Given the description of an element on the screen output the (x, y) to click on. 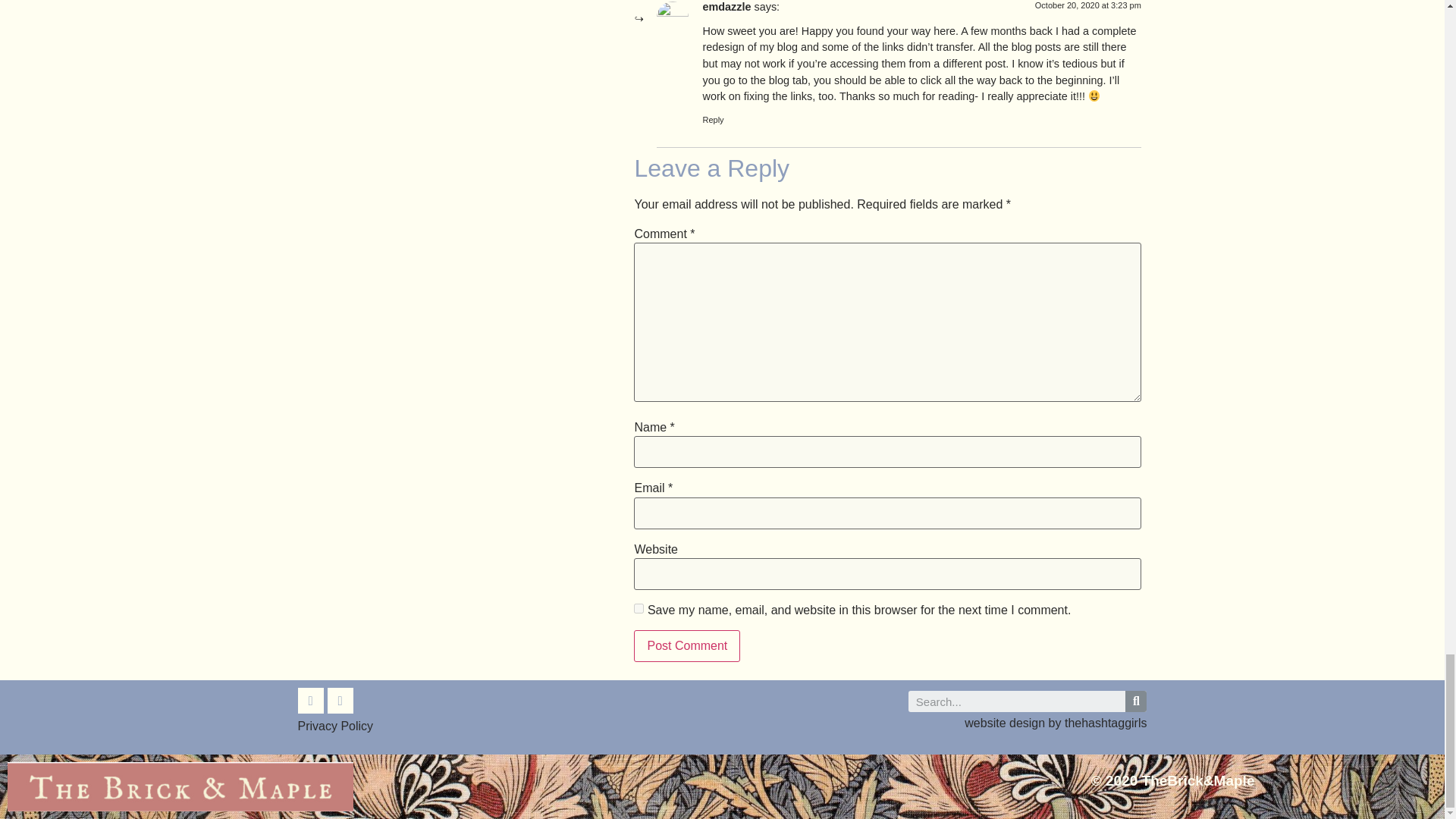
yes (638, 608)
Search (1016, 701)
October 20, 2020 at 3:23 pm (1088, 4)
Search (1136, 701)
thehashtaggirls (1105, 722)
Privacy Policy (334, 725)
Post Comment (686, 645)
Reply (712, 119)
Post Comment (686, 645)
